Given the description of an element on the screen output the (x, y) to click on. 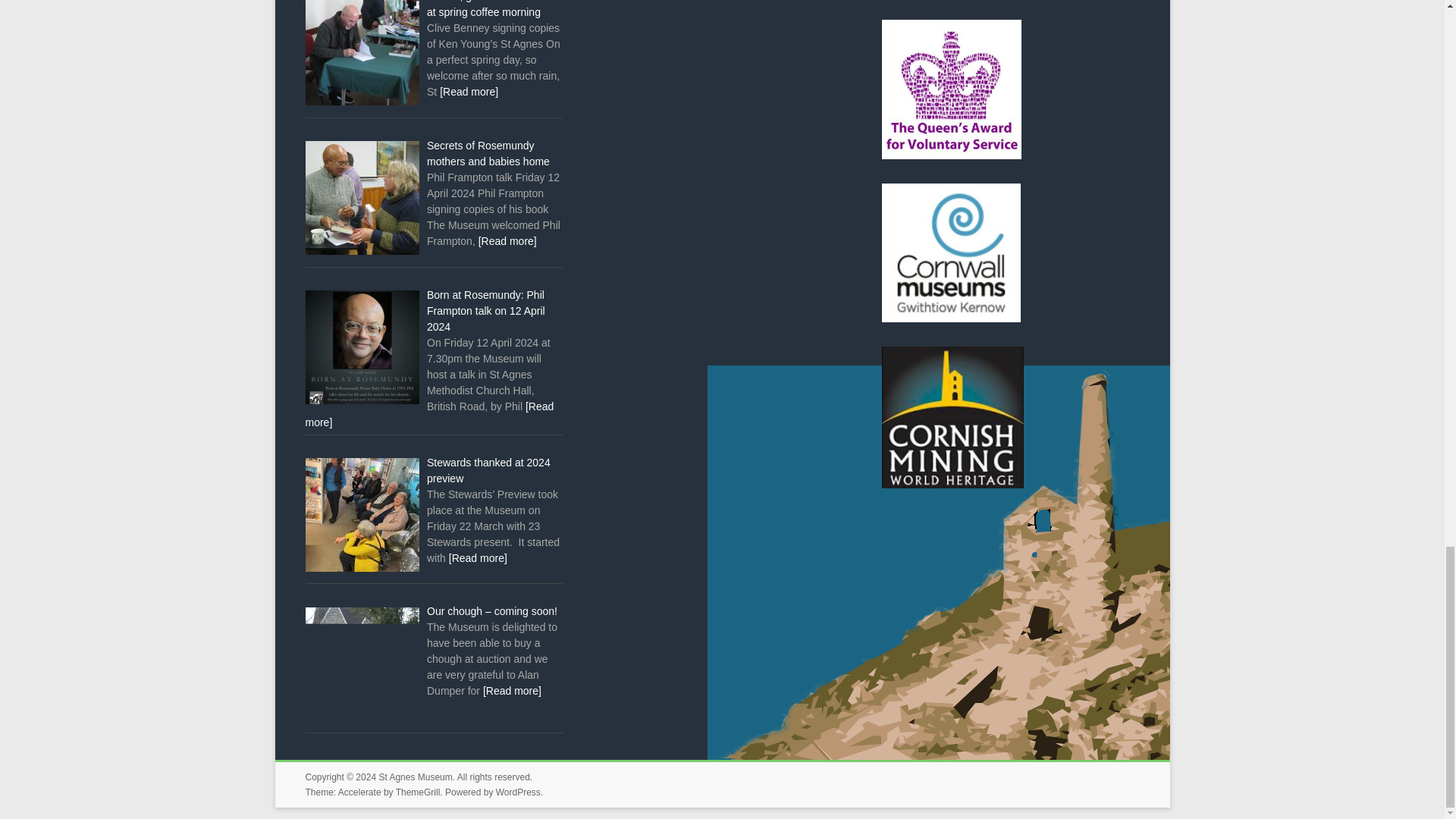
WordPress (518, 792)
Accelerate (359, 792)
WordPress (518, 792)
St Agnes Museum (414, 777)
Accelerate (359, 792)
Photos, gifts and local treats at spring coffee morning (493, 9)
St Agnes Museum (414, 777)
Born at Rosemundy: Phil Frampton talk on 12 April 2024 (485, 310)
Stewards thanked at 2024 preview (488, 470)
Secrets of Rosemundy mothers and babies home (488, 153)
